Given the description of an element on the screen output the (x, y) to click on. 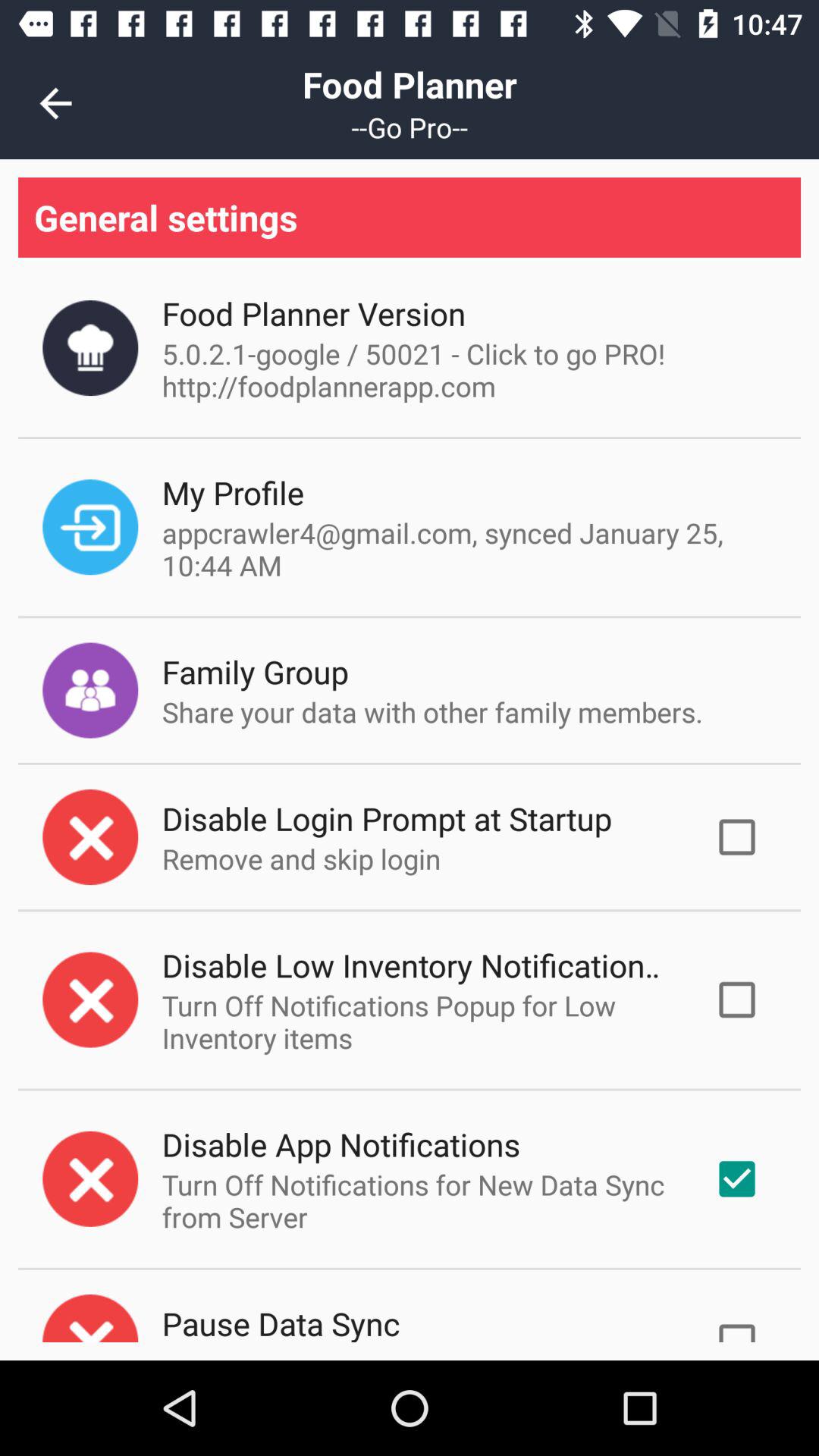
flip until remove and skip icon (301, 858)
